Given the description of an element on the screen output the (x, y) to click on. 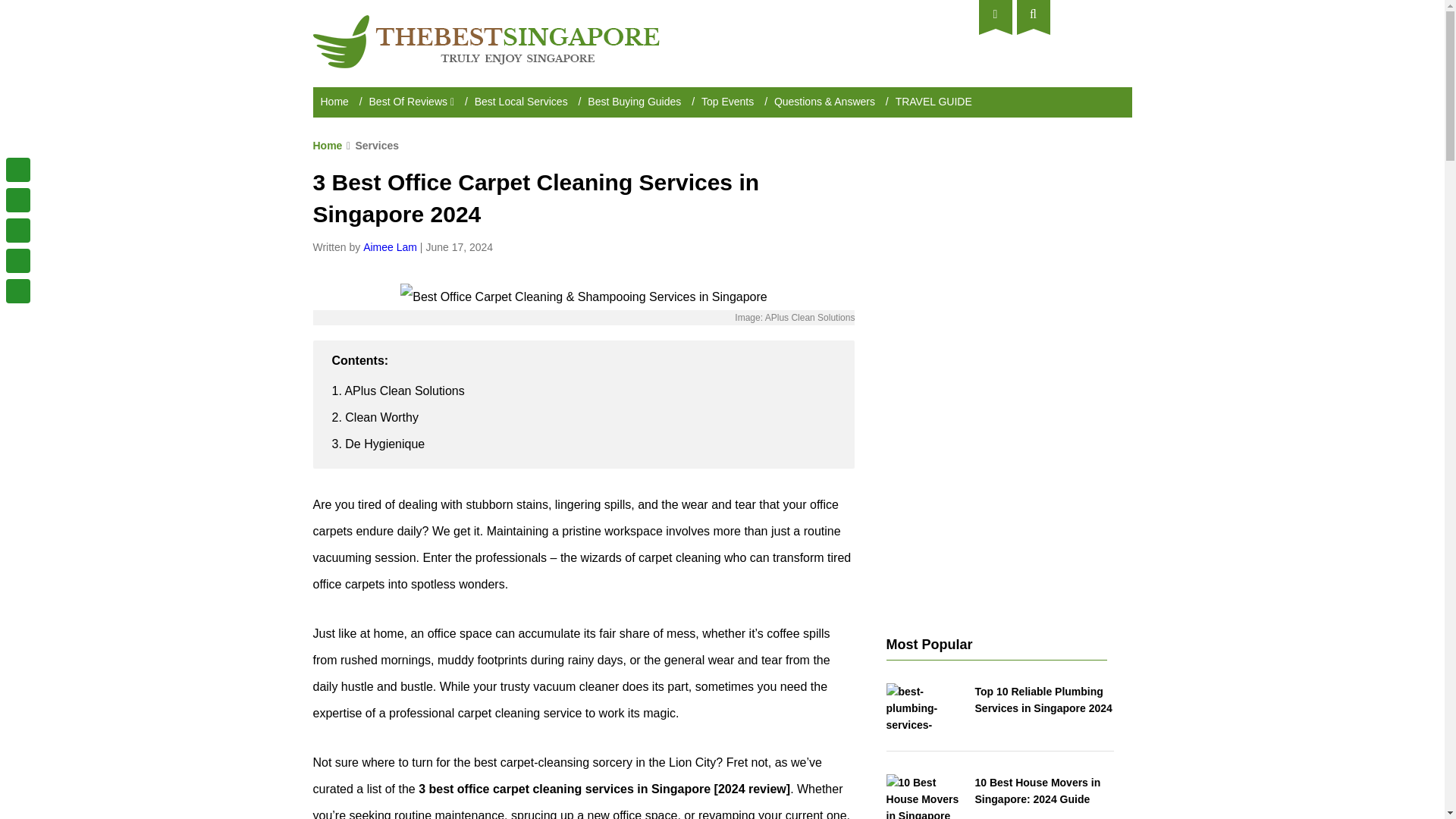
1. APlus Clean Solutions (397, 390)
The Best Singapore (486, 21)
Best Local Services (520, 101)
Home (333, 101)
My Dashboard (994, 14)
Aimee Lam (389, 246)
Search (1032, 14)
Best Buying Guides (634, 101)
Home (327, 145)
Top Events (727, 101)
TRAVEL GUIDE (933, 101)
